Given the description of an element on the screen output the (x, y) to click on. 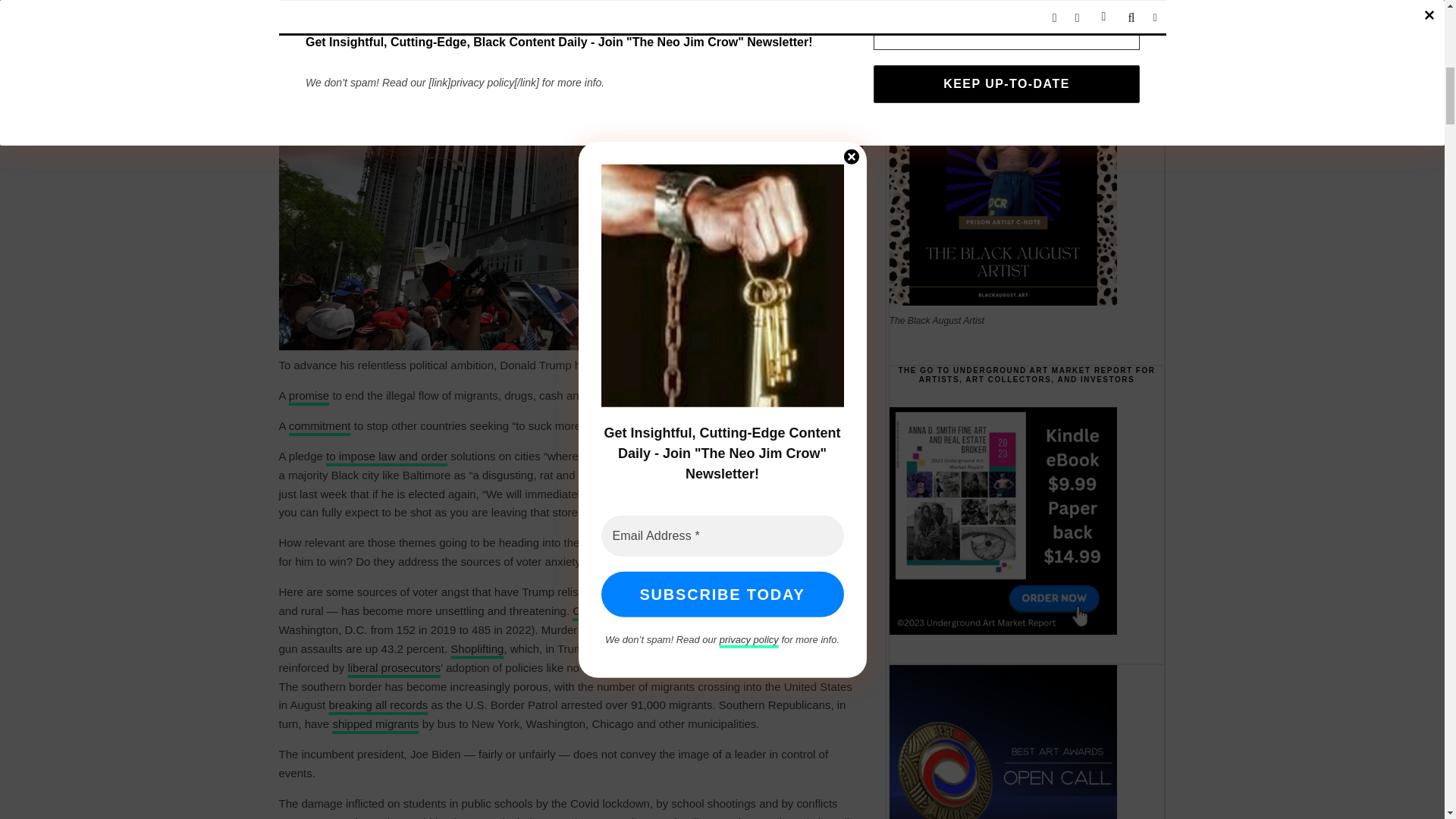
Carjacking (599, 610)
breaking all records (378, 704)
Crime (789, 591)
Shoplifting (476, 648)
liberal prosecutors (394, 667)
shipped migrants (375, 723)
promise (308, 395)
commitment (319, 425)
in major cities (615, 629)
to impose law and order (386, 455)
